Given the description of an element on the screen output the (x, y) to click on. 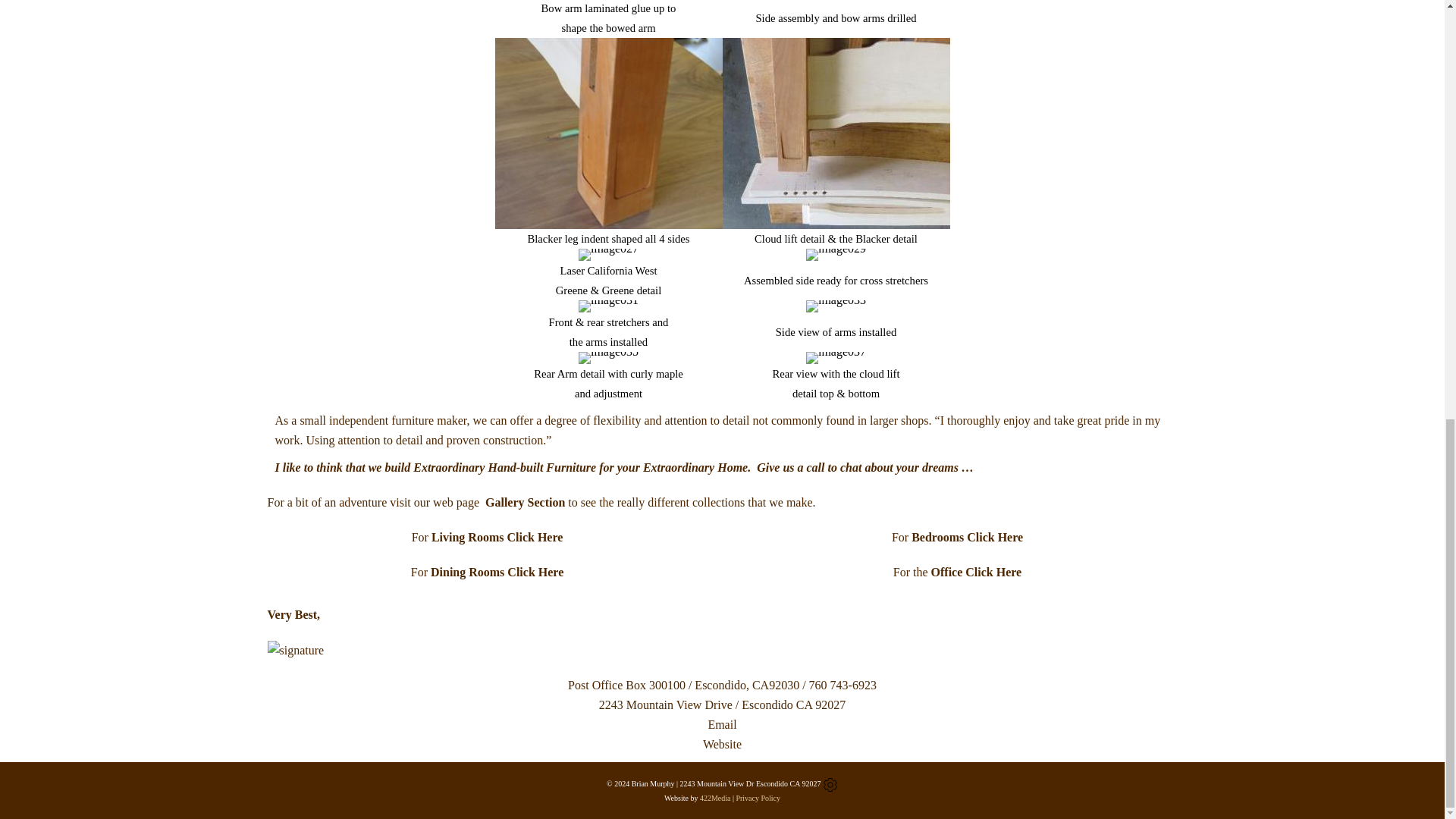
Click Here (534, 536)
422Media (715, 797)
Gallery Section (524, 502)
Privacy Policy (757, 797)
Click Here (534, 571)
Email (721, 724)
Click Here (994, 536)
Website (722, 744)
Click Here (993, 571)
